Given the description of an element on the screen output the (x, y) to click on. 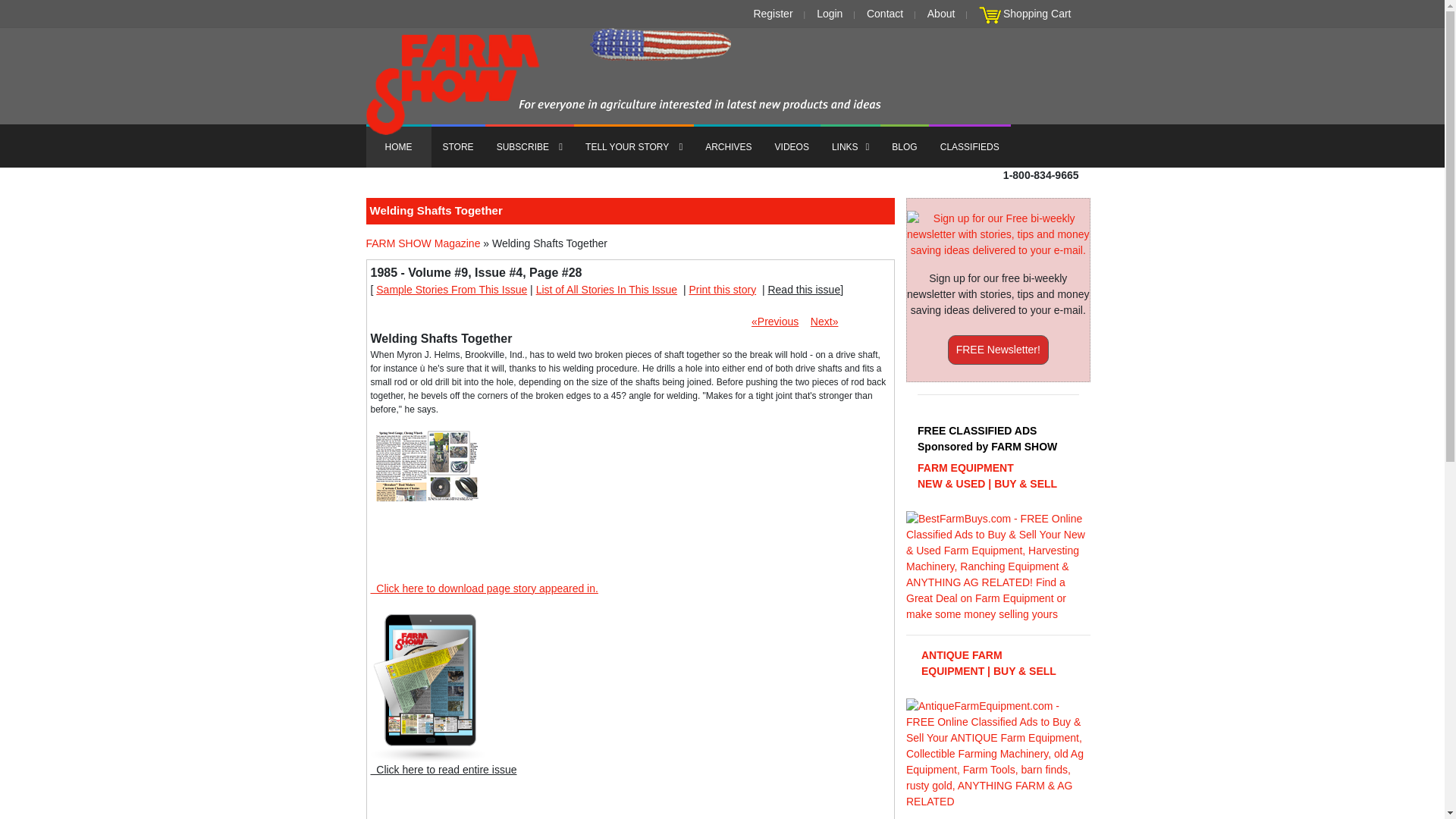
LINKS (850, 145)
Login (829, 13)
ARCHIVES (728, 145)
About (941, 13)
VIDEOS (791, 145)
Shopping Cart (1037, 13)
CONTACT FARM SHOW (884, 13)
HOME (397, 145)
